Given the description of an element on the screen output the (x, y) to click on. 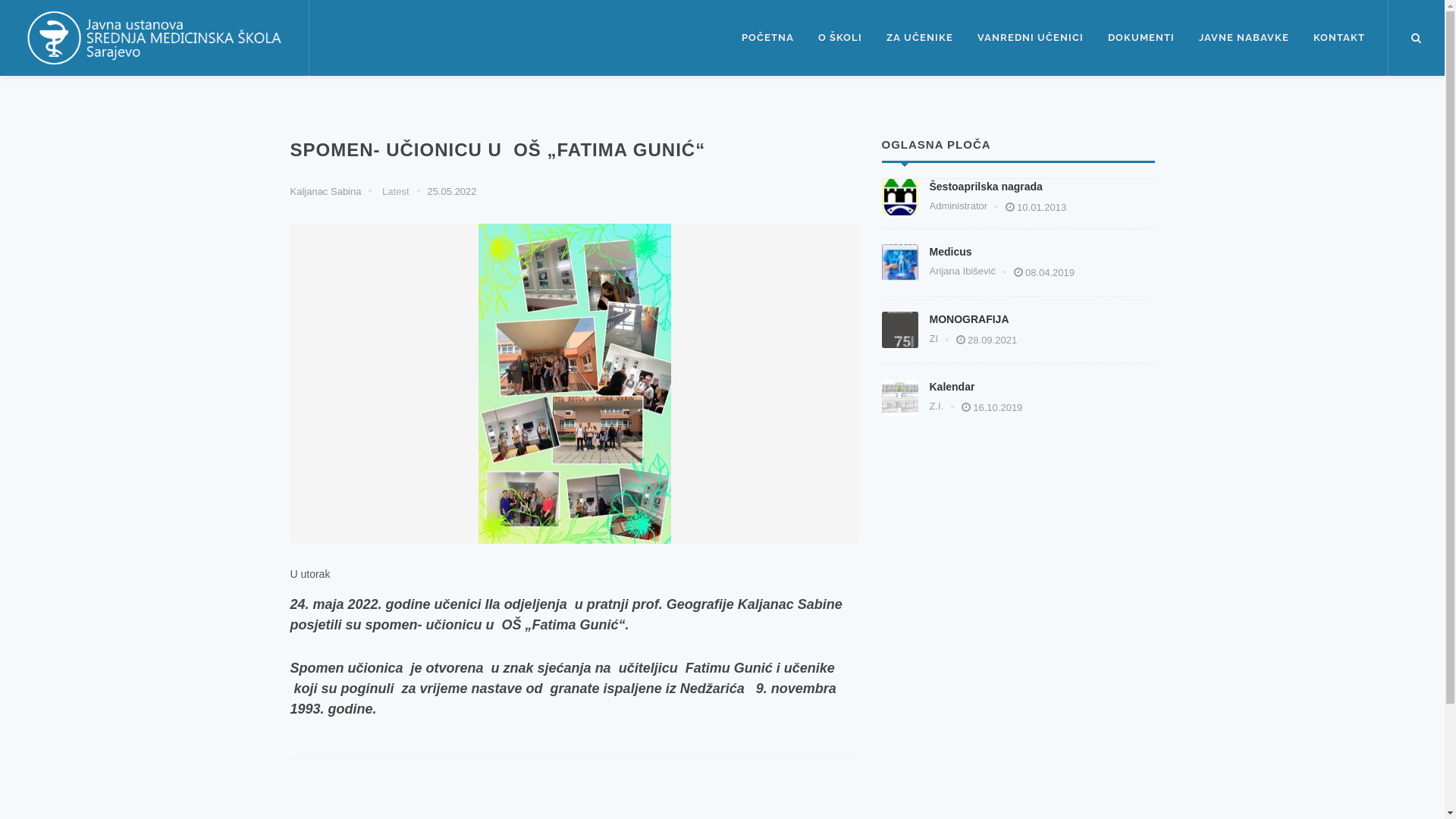
Medicus Element type: text (950, 251)
MONOGRAFIJA Element type: text (969, 318)
Kalendar Element type: text (952, 386)
KONTAKT Element type: text (1339, 37)
JAVNE NABAVKE Element type: text (1243, 37)
Latest Element type: text (393, 191)
DOKUMENTI Element type: text (1141, 37)
